Given the description of an element on the screen output the (x, y) to click on. 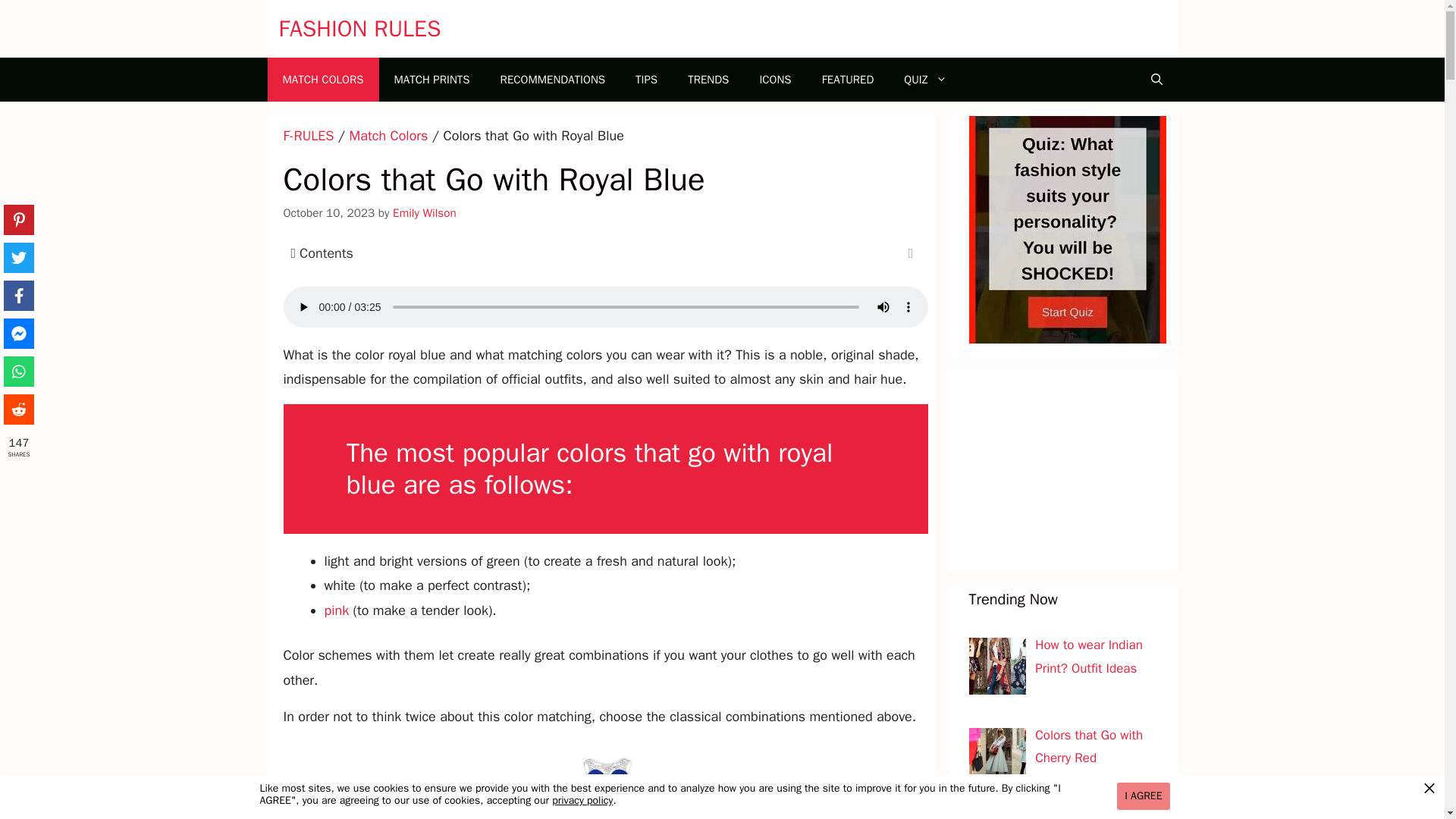
TIPS (646, 79)
FASHION RULES (360, 28)
View all posts by Emily Wilson (425, 212)
QUIZ (924, 79)
TRENDS (708, 79)
FEATURED (847, 79)
RECOMMENDATIONS (552, 79)
colors go with royal blue photo (605, 780)
Emily Wilson (425, 212)
pink (336, 610)
Mute (882, 306)
Play (303, 306)
ICONS (775, 79)
Match Colors (388, 135)
F-RULES (308, 135)
